Given the description of an element on the screen output the (x, y) to click on. 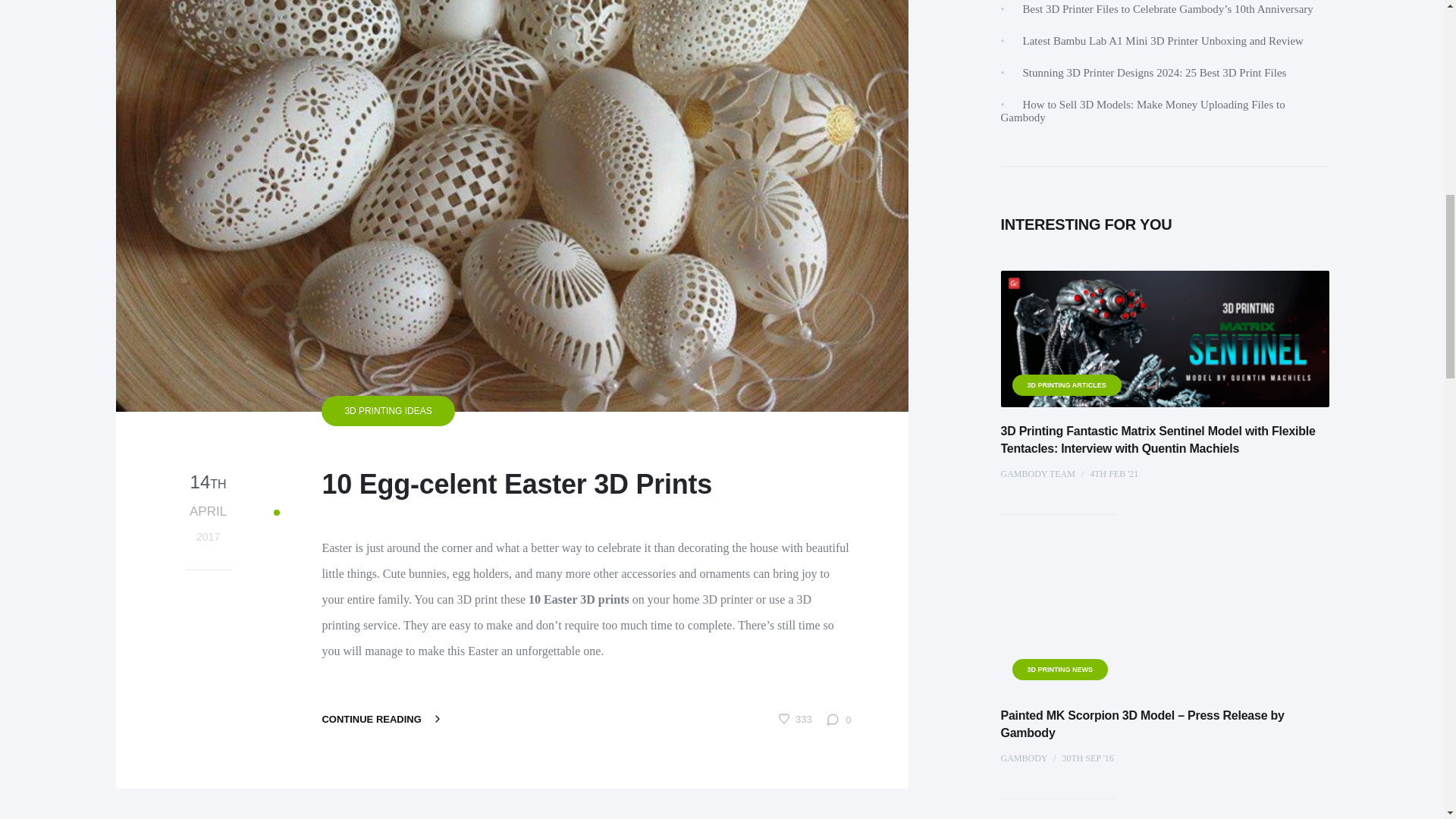
CONTINUE READING (382, 718)
333 (795, 717)
0 (838, 719)
10 Egg-celent Easter 3D Prints (559, 484)
Like (795, 717)
3D PRINTING IDEAS (208, 534)
